Given the description of an element on the screen output the (x, y) to click on. 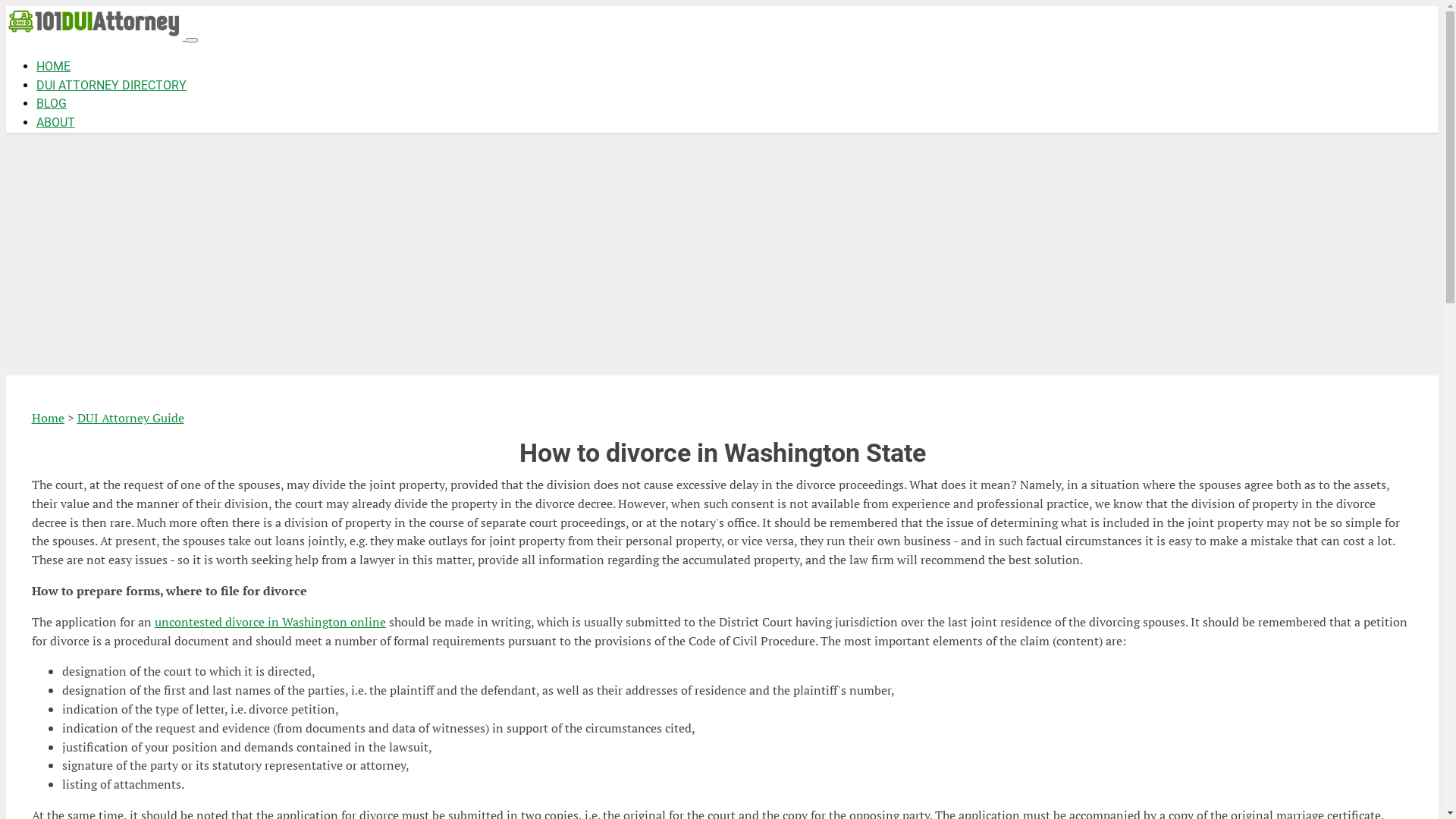
HOME Element type: text (53, 66)
uncontested divorce in Washington online Element type: text (269, 621)
DUI ATTORNEY DIRECTORY Element type: text (111, 85)
ABOUT Element type: text (55, 122)
DUI Attorney Guide Element type: text (130, 417)
Home Element type: text (47, 417)
BLOG Element type: text (51, 103)
